Given the description of an element on the screen output the (x, y) to click on. 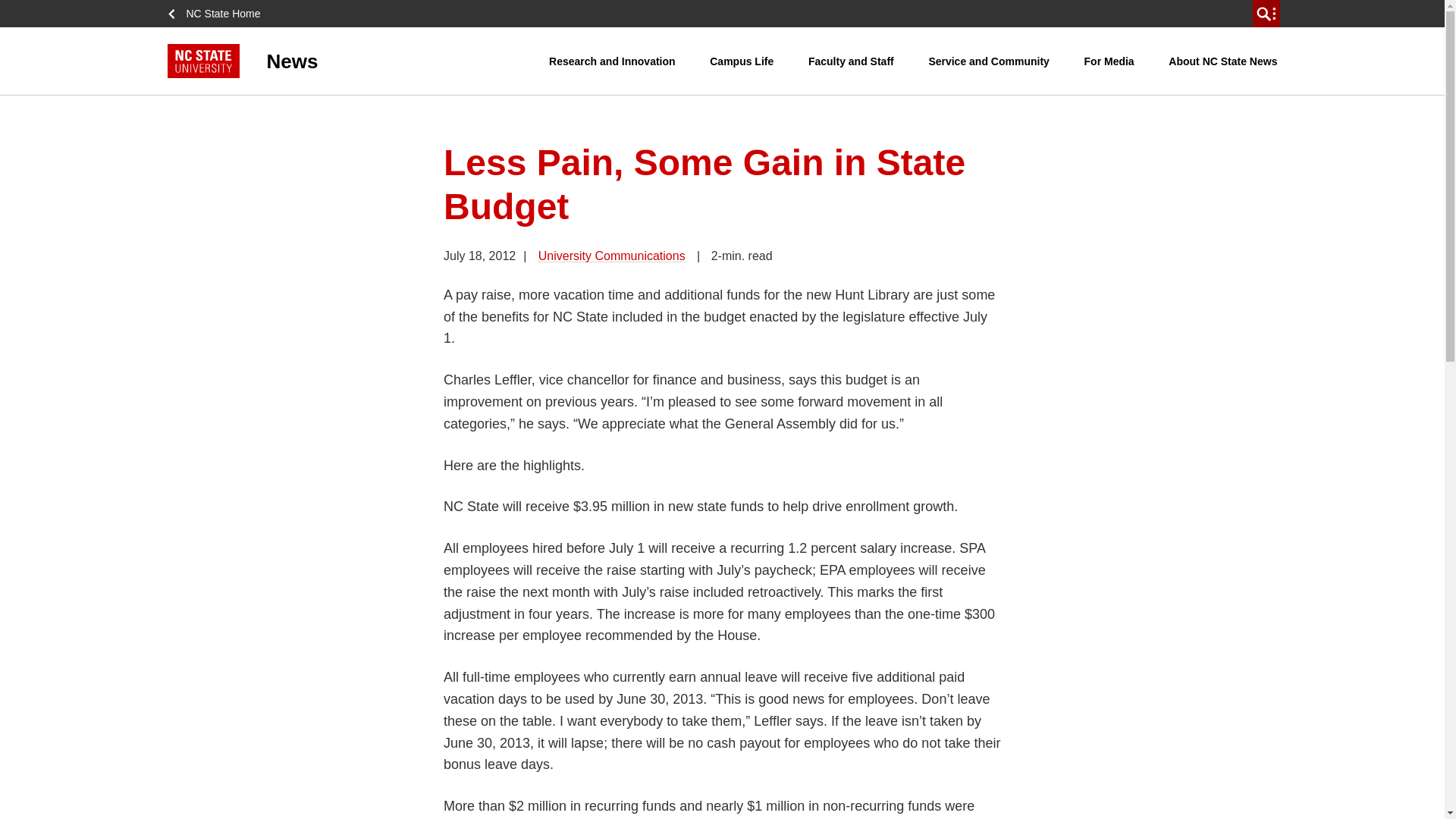
Posts by University Communications (611, 255)
Faculty and Staff (851, 61)
Service and Community (989, 61)
Campus Life (741, 61)
News (357, 61)
NC State Home (217, 13)
Research and Innovation (611, 61)
